Given the description of an element on the screen output the (x, y) to click on. 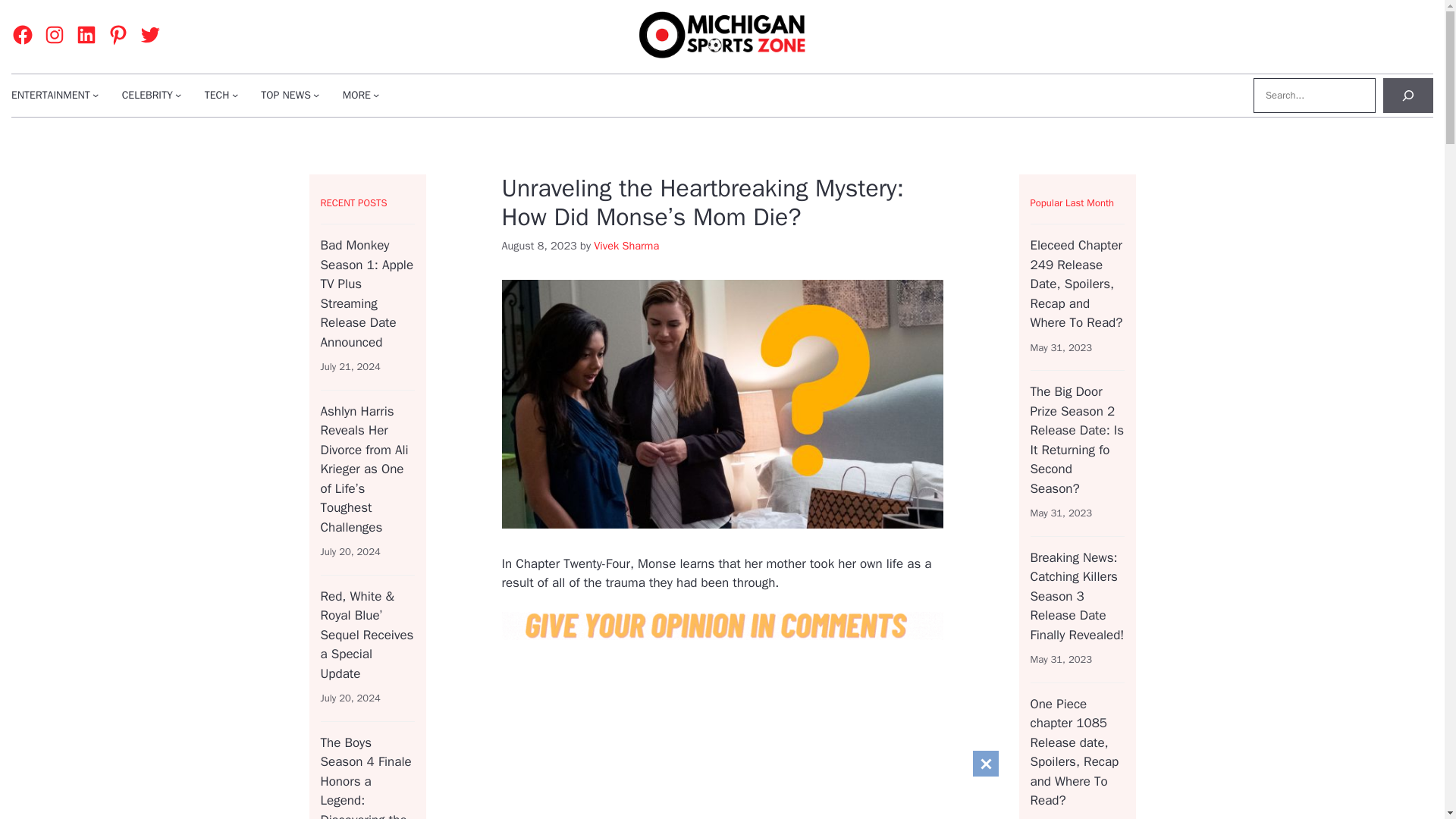
Twitter (149, 34)
LinkedIn (86, 34)
Advertisement (837, 739)
Instagram (54, 34)
TOP NEWS (285, 94)
ENTERTAINMENT (50, 94)
Vivek Sharma (626, 245)
View all posts by Vivek Sharma (626, 245)
CELEBRITY (147, 94)
Pinterest (117, 34)
TECH (217, 94)
MORE (356, 94)
